Given the description of an element on the screen output the (x, y) to click on. 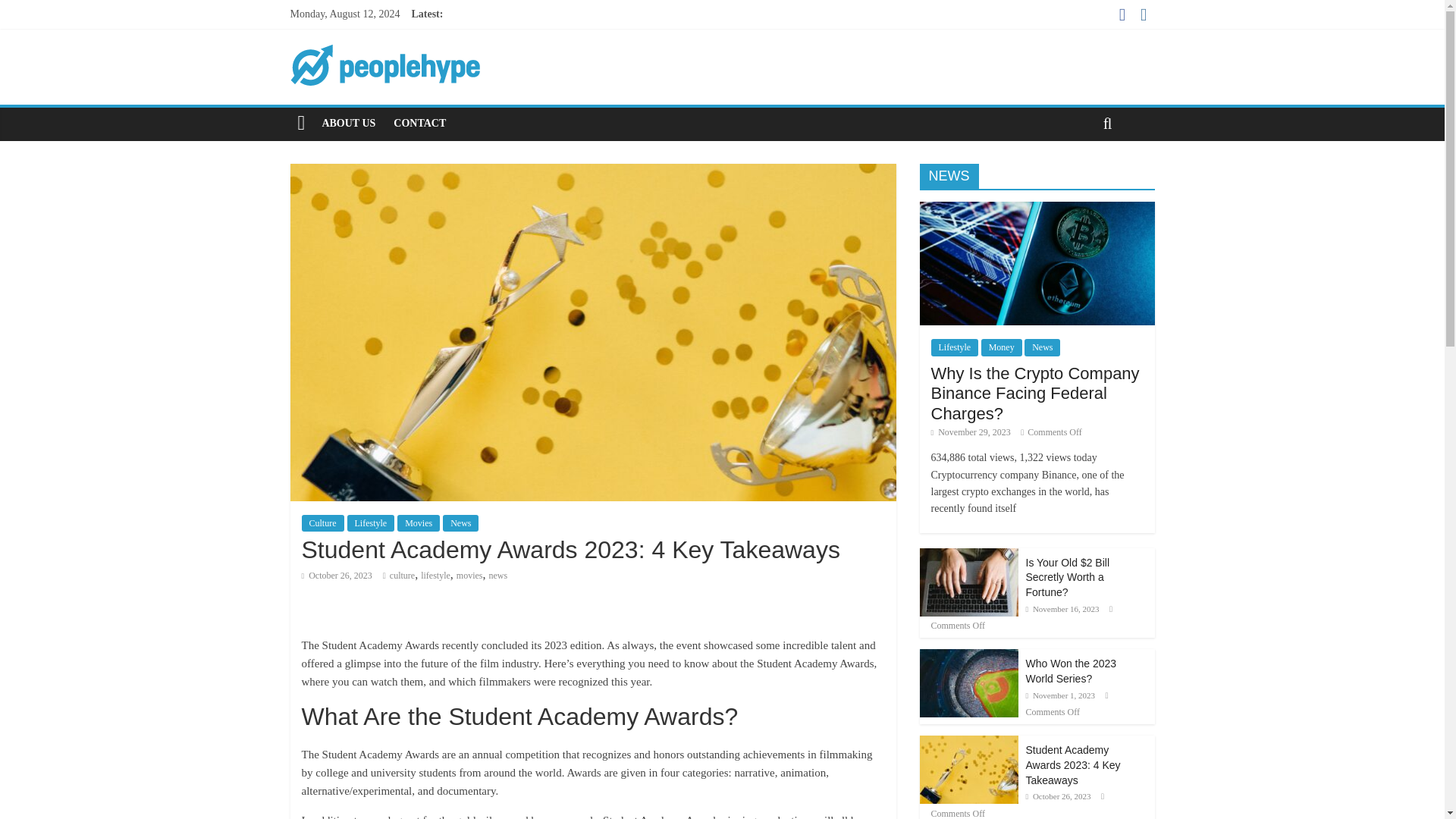
ABOUT US (348, 123)
Culture (322, 523)
Why Is the Crypto Company Binance Facing Federal Charges? (1036, 263)
News (1042, 347)
Money (1001, 347)
News (460, 523)
movies (470, 575)
Lifestyle (954, 347)
lifestyle (434, 575)
Why Is the Crypto Company Binance Facing Federal Charges? (1035, 393)
